Given the description of an element on the screen output the (x, y) to click on. 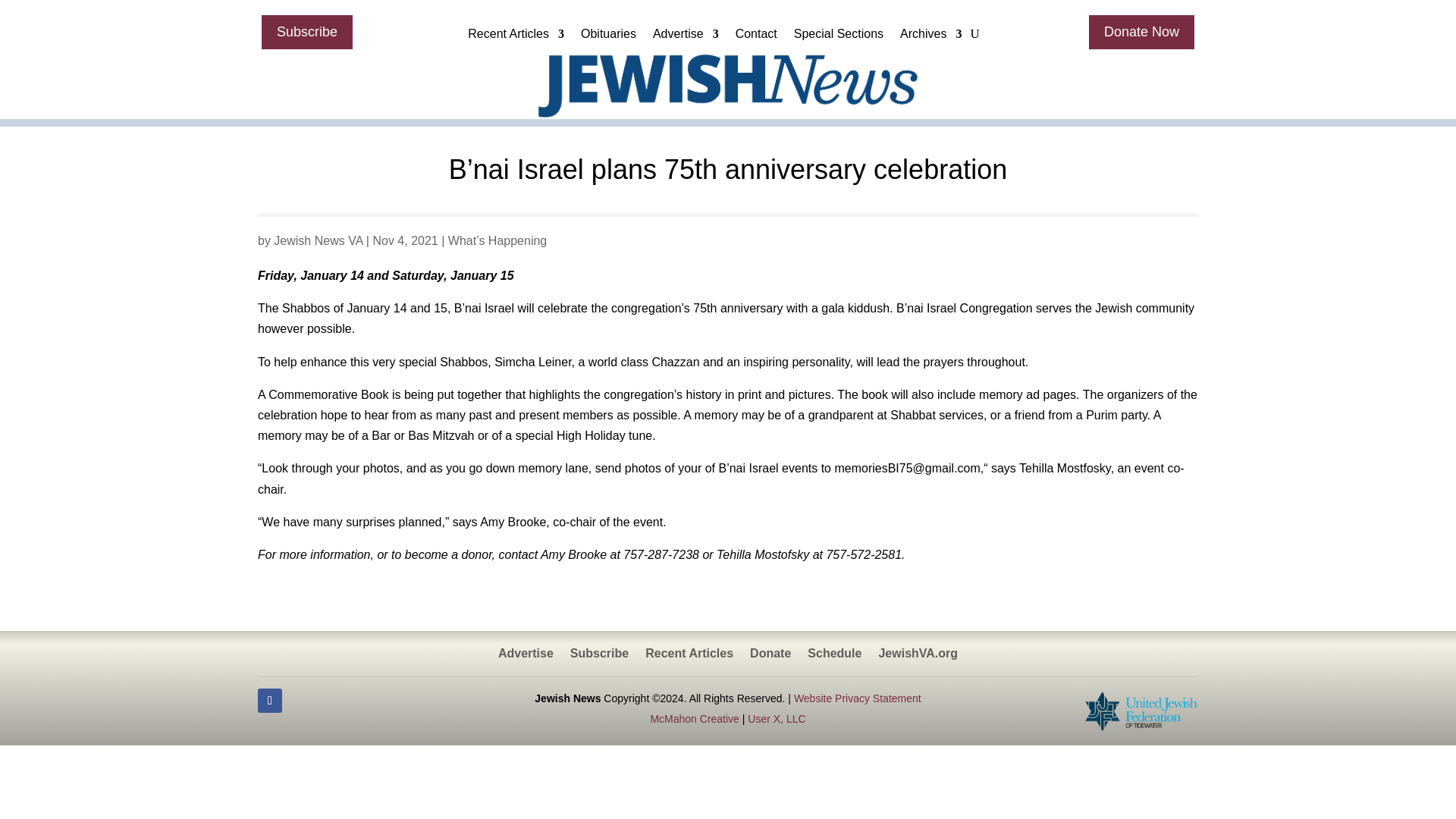
Special Sections (838, 37)
Contact (756, 37)
Posts by Jewish News VA (317, 240)
Obituaries (608, 37)
Donate Now (1141, 32)
Archives (929, 37)
Advertise (685, 37)
Recent Articles (515, 37)
Subscribe (307, 32)
Follow on Facebook (269, 700)
